Given the description of an element on the screen output the (x, y) to click on. 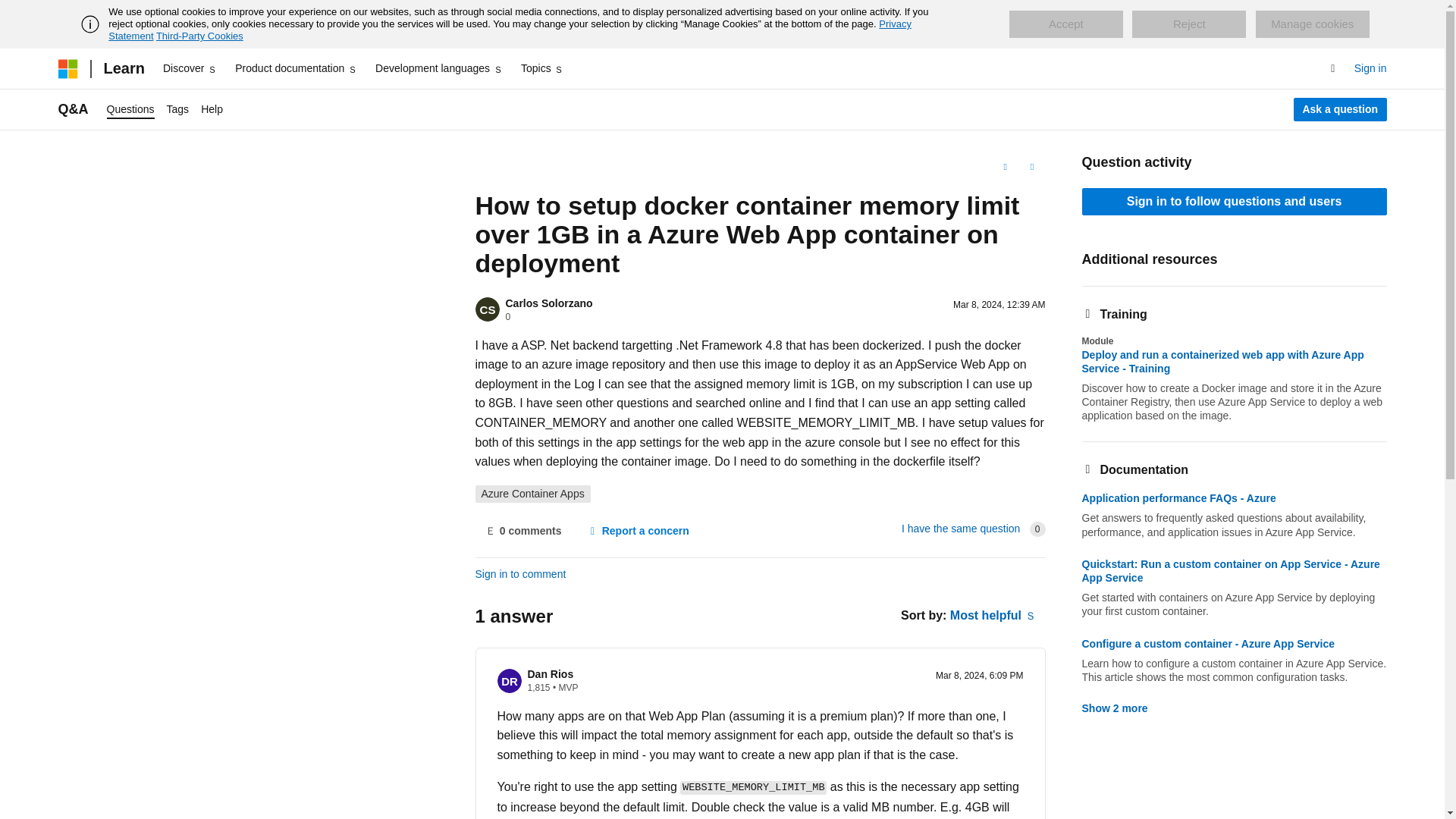
Skip to main content (11, 11)
Report a concern (637, 531)
Learn (123, 68)
Reputation points (508, 317)
Manage cookies (1312, 23)
Ask a question (1340, 109)
Reputation points (538, 687)
No comments (522, 531)
Product documentation (295, 68)
Privacy Statement (509, 29)
Tags (177, 109)
Reject (1189, 23)
Share this question (1031, 166)
You have the same or similar question (960, 528)
Accept (1065, 23)
